Given the description of an element on the screen output the (x, y) to click on. 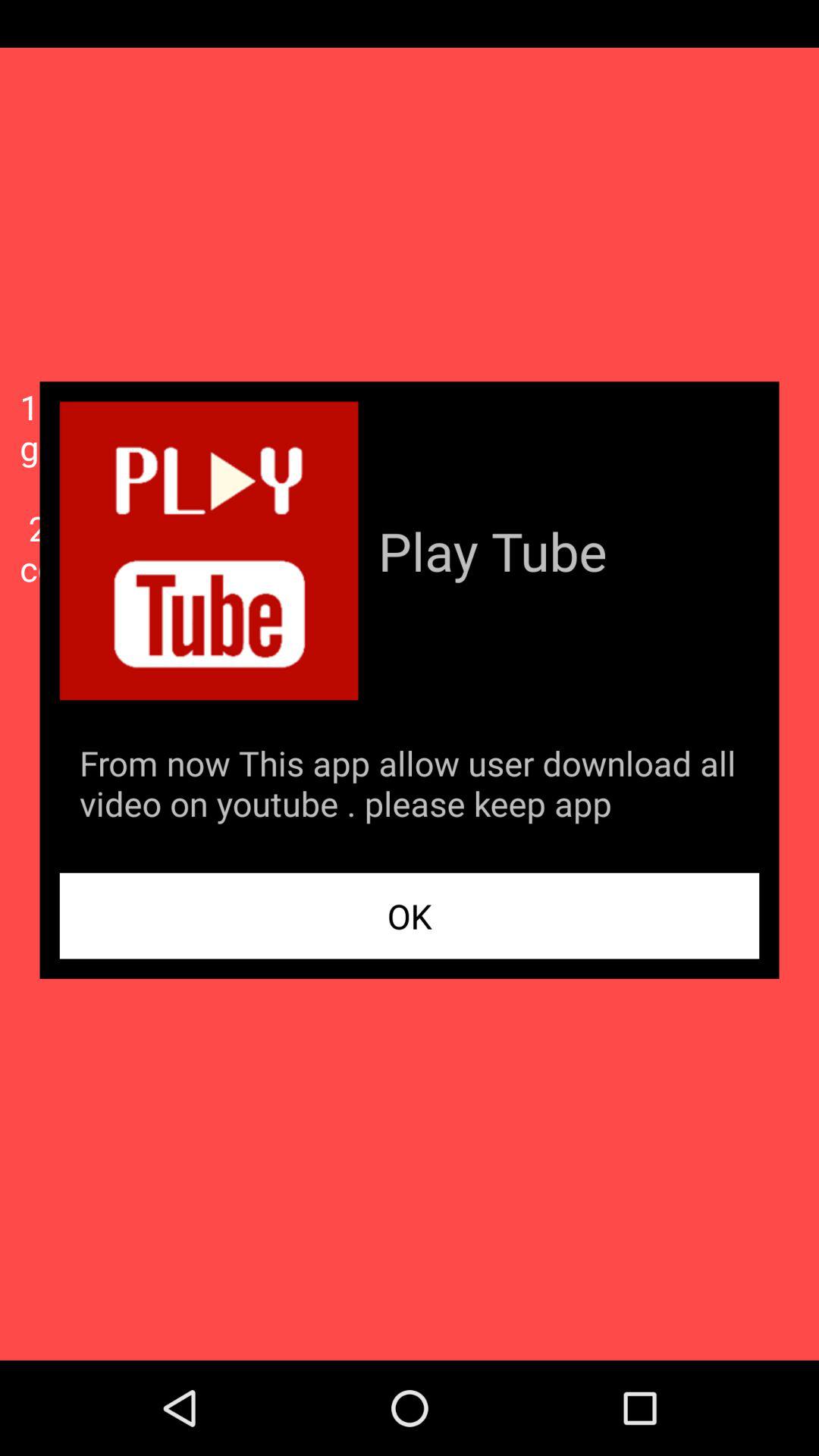
turn on icon above ok button (409, 786)
